Given the description of an element on the screen output the (x, y) to click on. 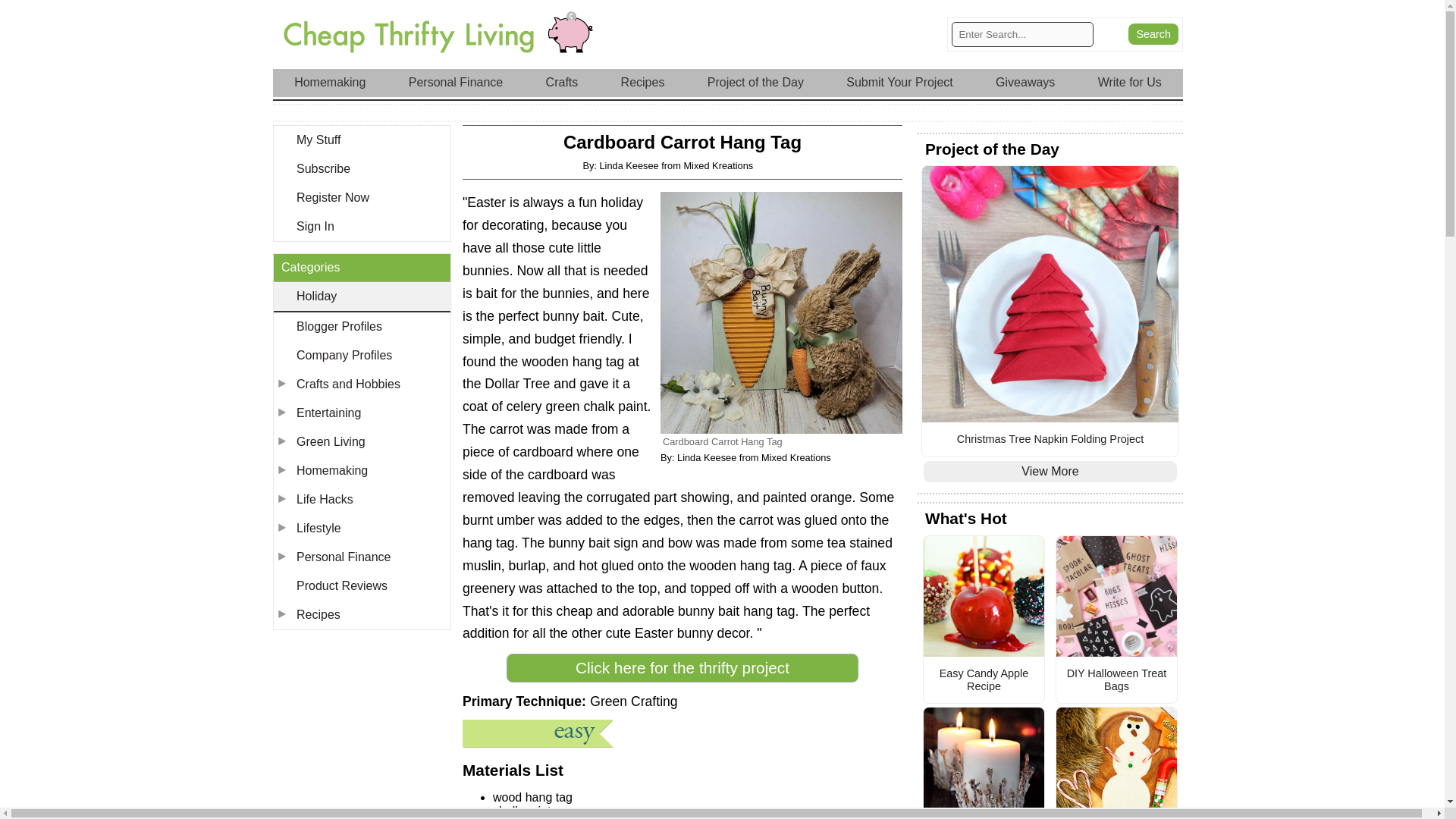
My Stuff (361, 140)
Search (1152, 34)
Subscribe (361, 168)
Sign In (361, 226)
Cardboard Carrot Hang Tag (781, 312)
Homemaking (329, 81)
Register Now (361, 197)
Search (1152, 34)
